Given the description of an element on the screen output the (x, y) to click on. 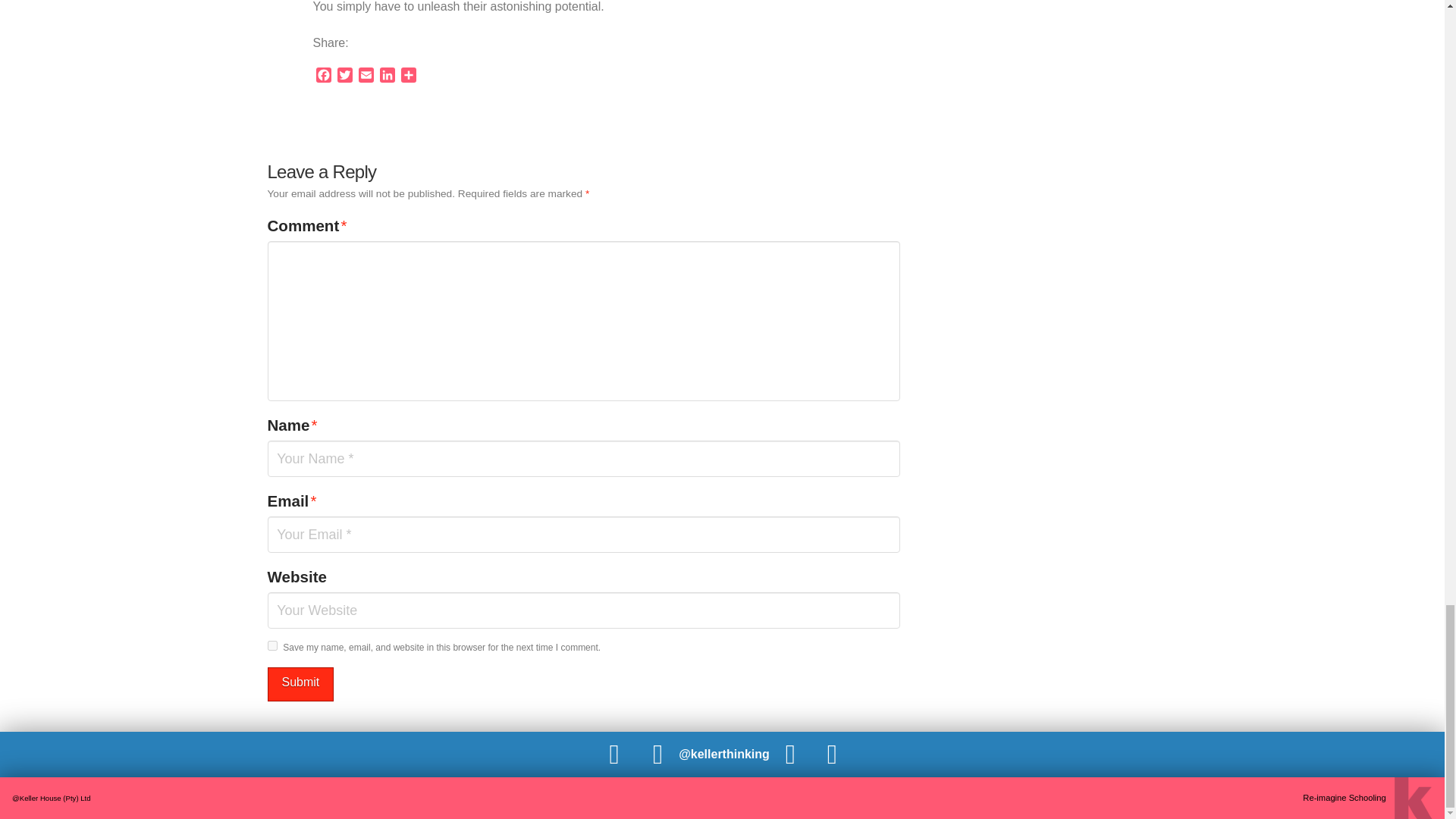
LinkedIn (386, 76)
Twitter (344, 76)
Facebook (323, 76)
Submit (299, 684)
Facebook (323, 76)
Twitter (344, 76)
Email (365, 76)
Email (365, 76)
yes (271, 645)
LinkedIn (386, 76)
Submit (299, 684)
